Given the description of an element on the screen output the (x, y) to click on. 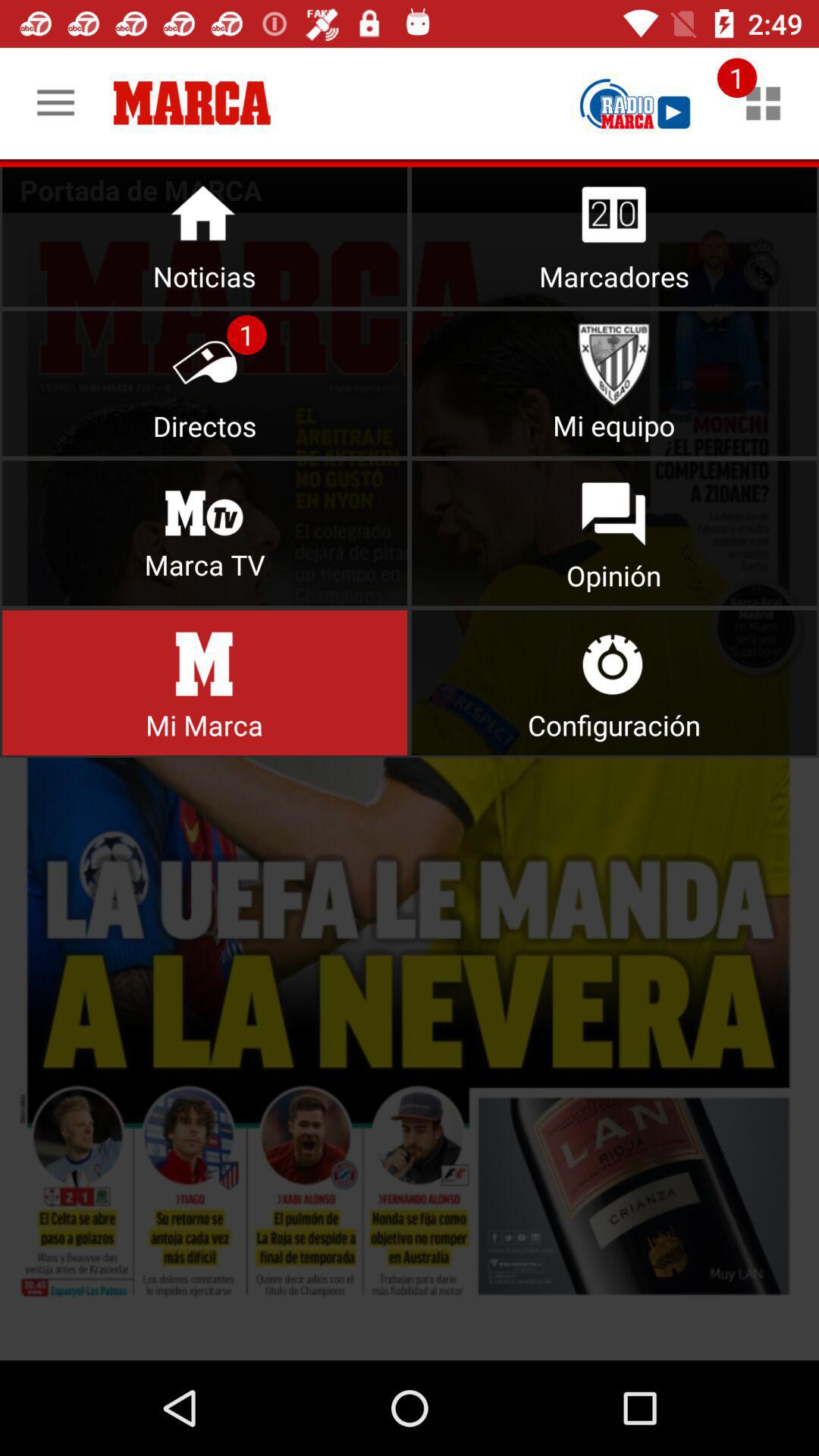
open the mi marca menu (409, 786)
